Given the description of an element on the screen output the (x, y) to click on. 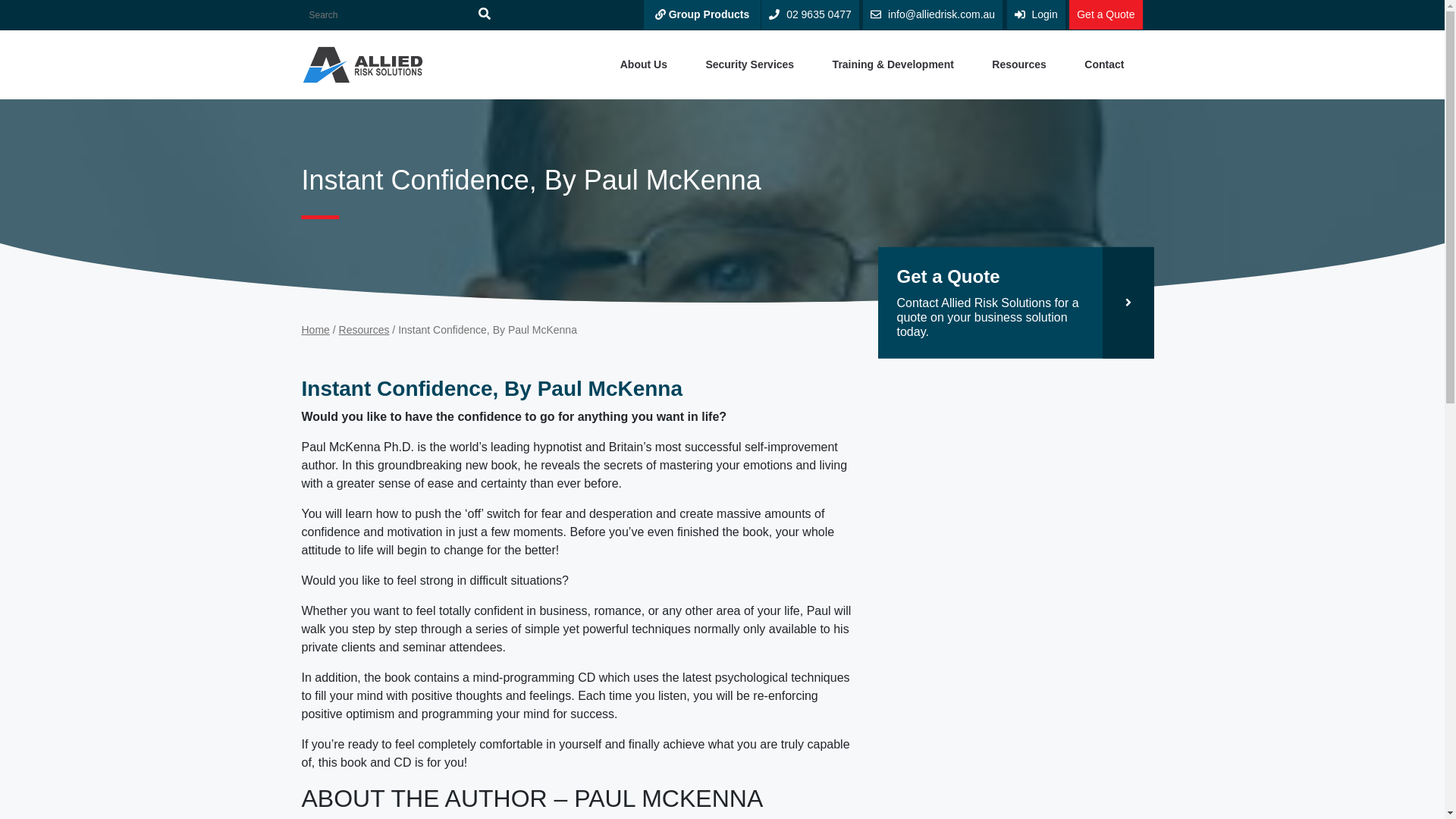
Get a Quote (1104, 14)
Login (1036, 14)
Security Services (748, 64)
02 9635 0477 (810, 14)
About Us (643, 64)
